Given the description of an element on the screen output the (x, y) to click on. 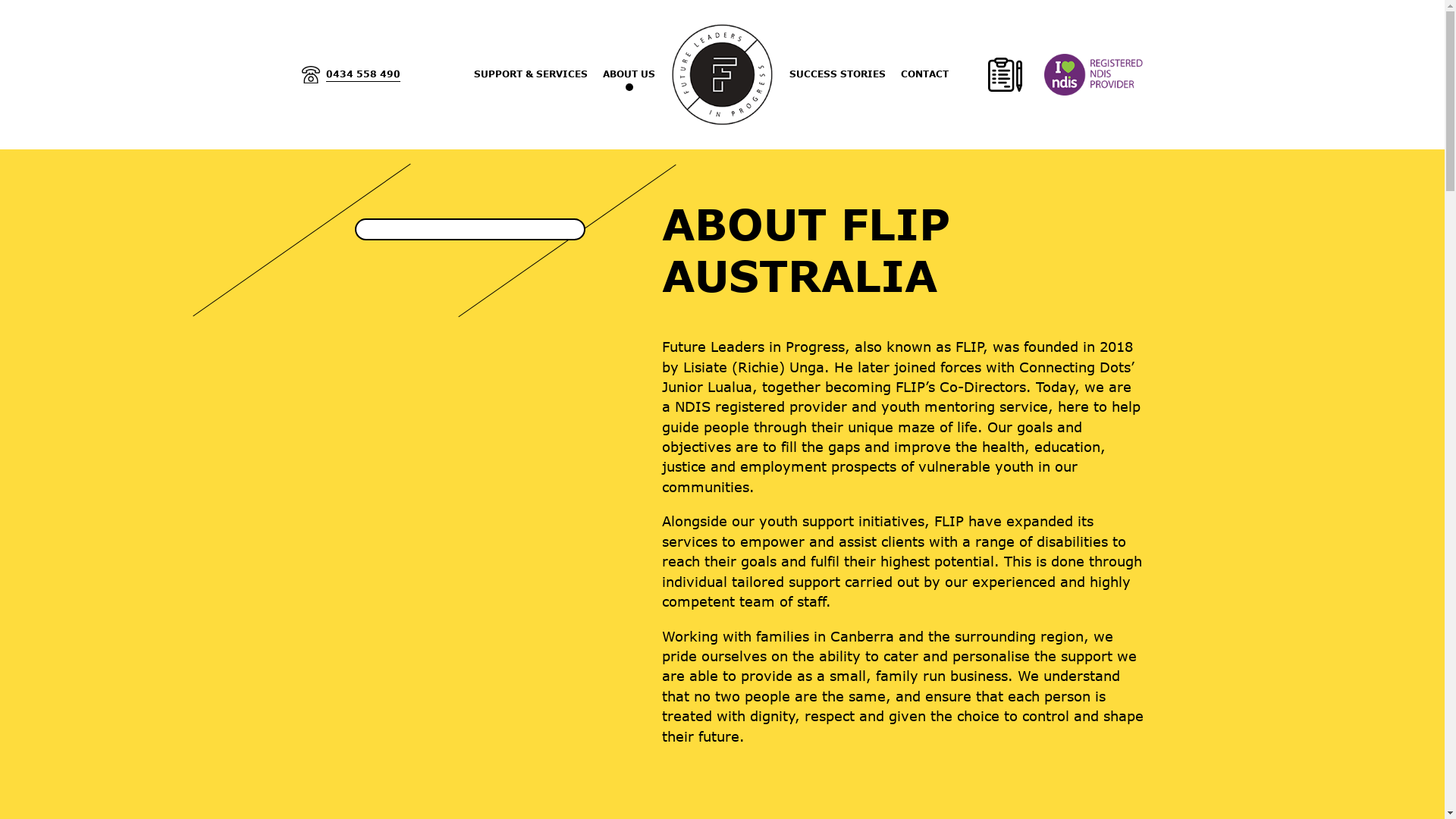
CONTACT Element type: text (924, 73)
0434 558 490 Element type: text (350, 74)
SUPPORT & SERVICES Element type: text (530, 73)
SUCCESS STORIES Element type: text (837, 73)
ABOUT US Element type: text (628, 73)
